Given the description of an element on the screen output the (x, y) to click on. 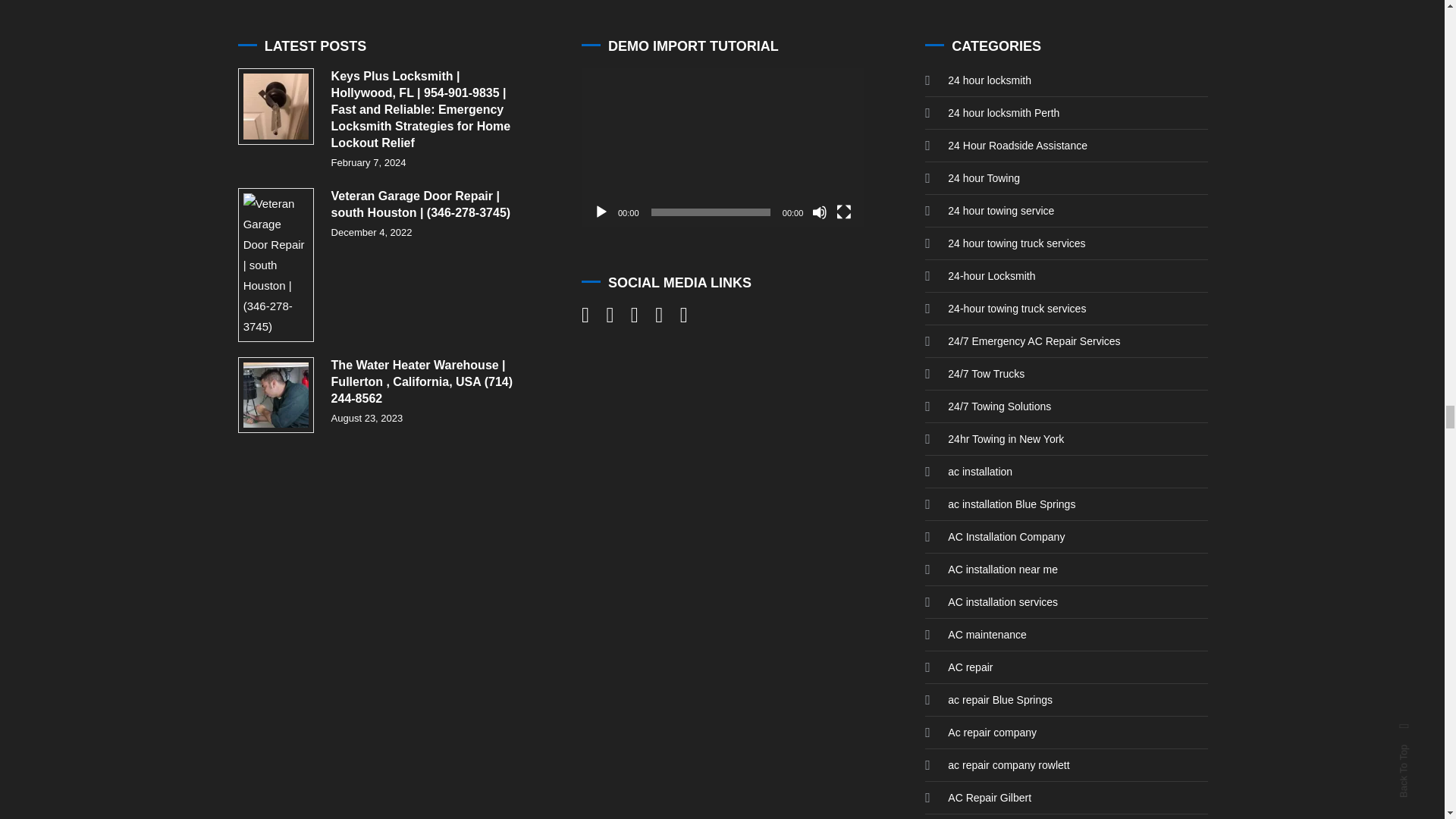
Play (601, 212)
Fullscreen (843, 212)
Mute (819, 212)
